Given the description of an element on the screen output the (x, y) to click on. 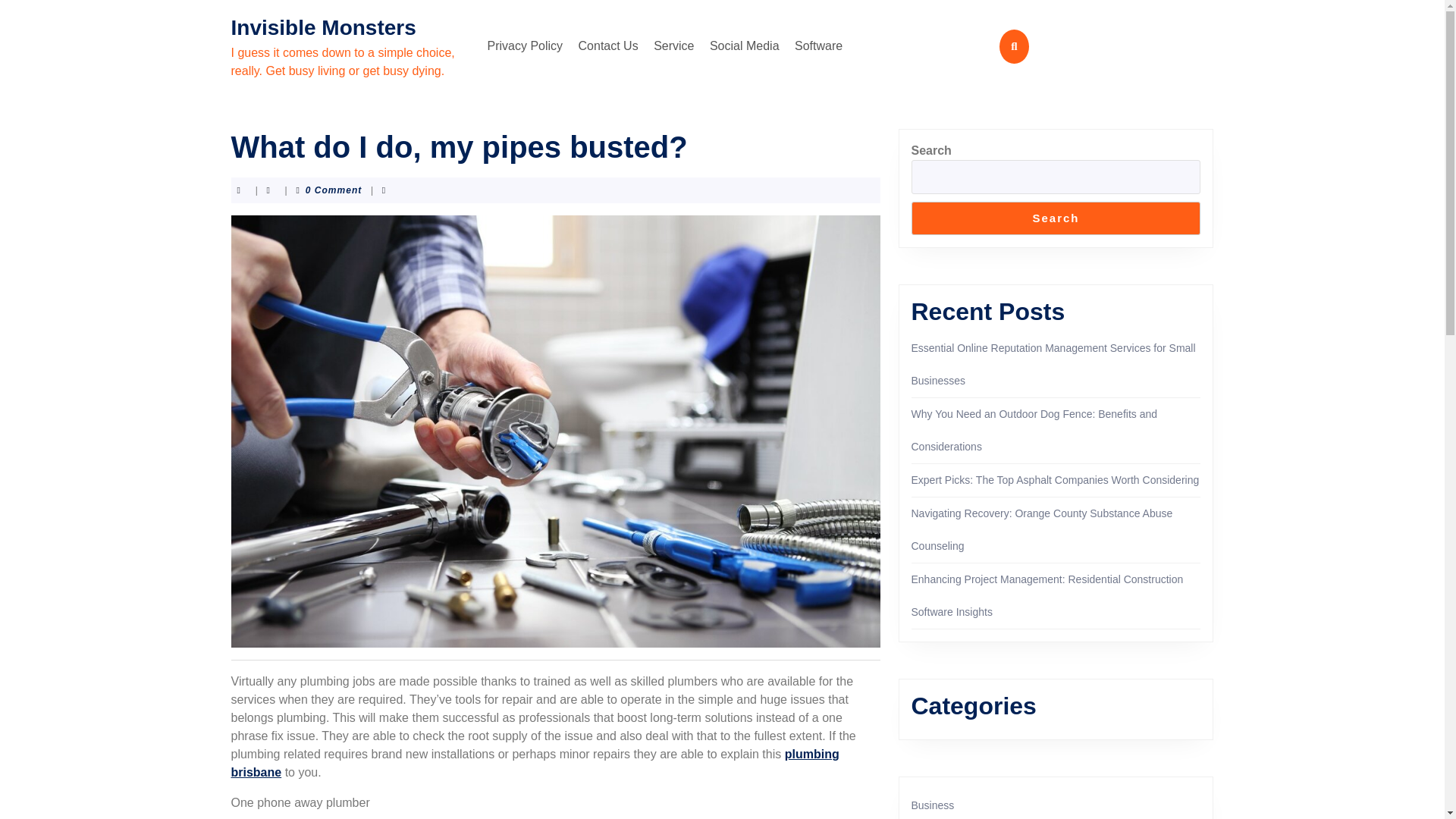
Business (933, 805)
Privacy Policy (524, 46)
Service (673, 46)
Invisible Monsters (322, 27)
Expert Picks: The Top Asphalt Companies Worth Considering (1055, 480)
Software (818, 46)
Contact Us (608, 46)
Search (1056, 218)
plumbing brisbane (534, 762)
Social Media (744, 46)
